Given the description of an element on the screen output the (x, y) to click on. 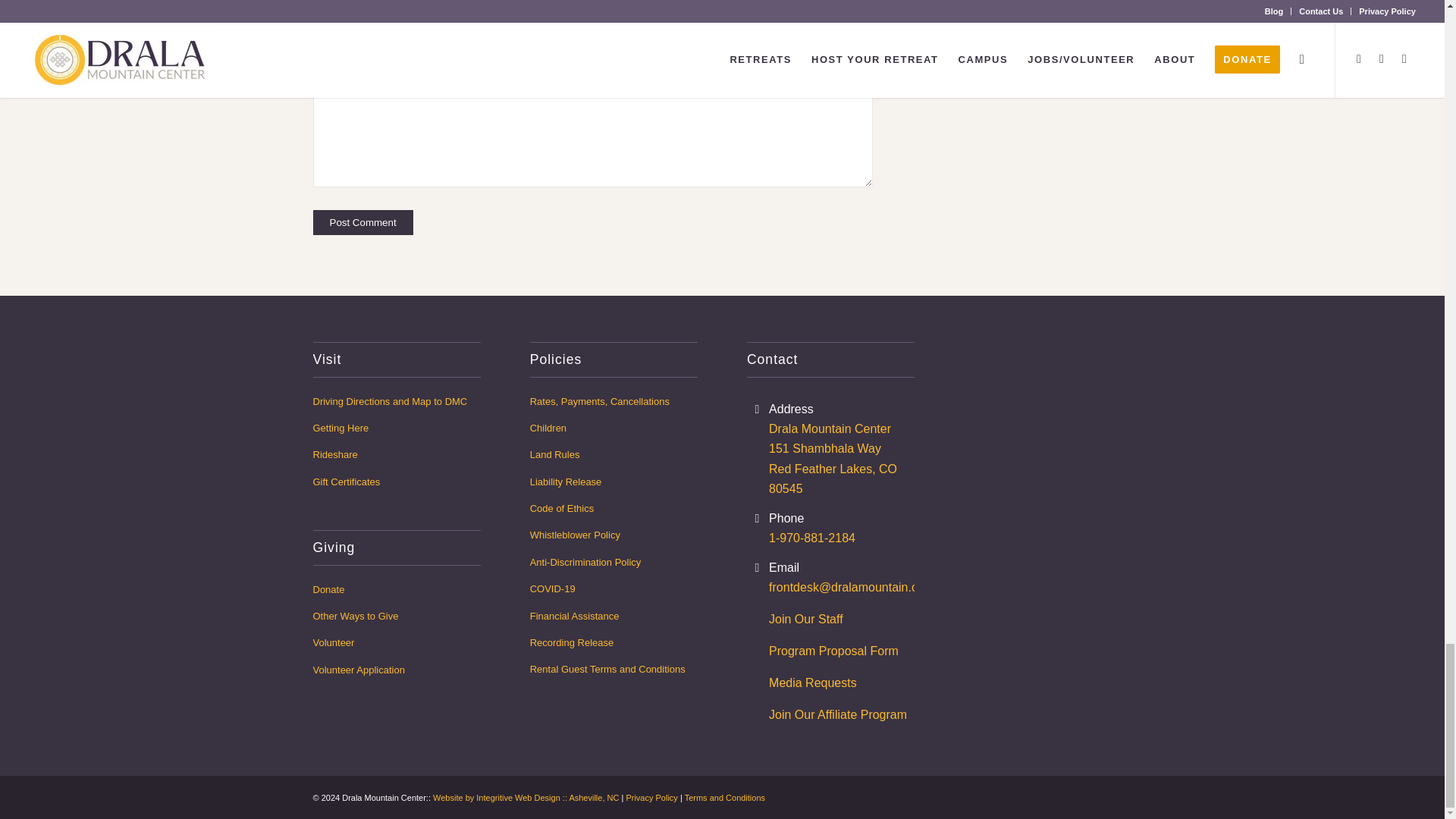
Post Comment (362, 222)
